Given the description of an element on the screen output the (x, y) to click on. 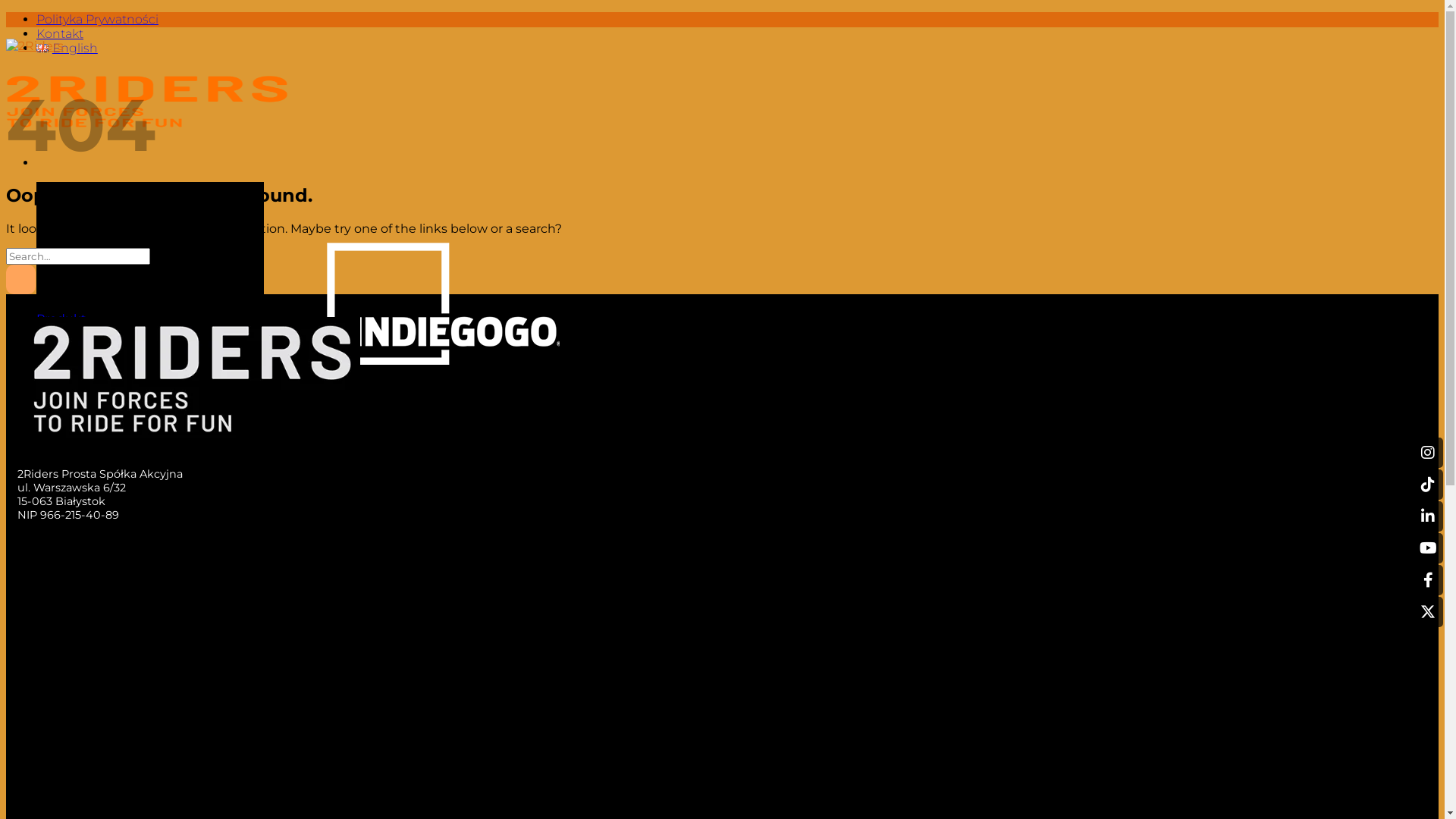
Inwestorzy Element type: text (69, 347)
2Riders - JOIN FORCES TO RIDE FOR FUN Element type: hover (148, 90)
Kontakt Element type: text (59, 33)
English Element type: text (66, 48)
Kontakt Element type: text (60, 361)
Produkt Element type: text (61, 318)
Pre-order Element type: text (65, 333)
Skip to content Element type: text (5, 11)
